Given the description of an element on the screen output the (x, y) to click on. 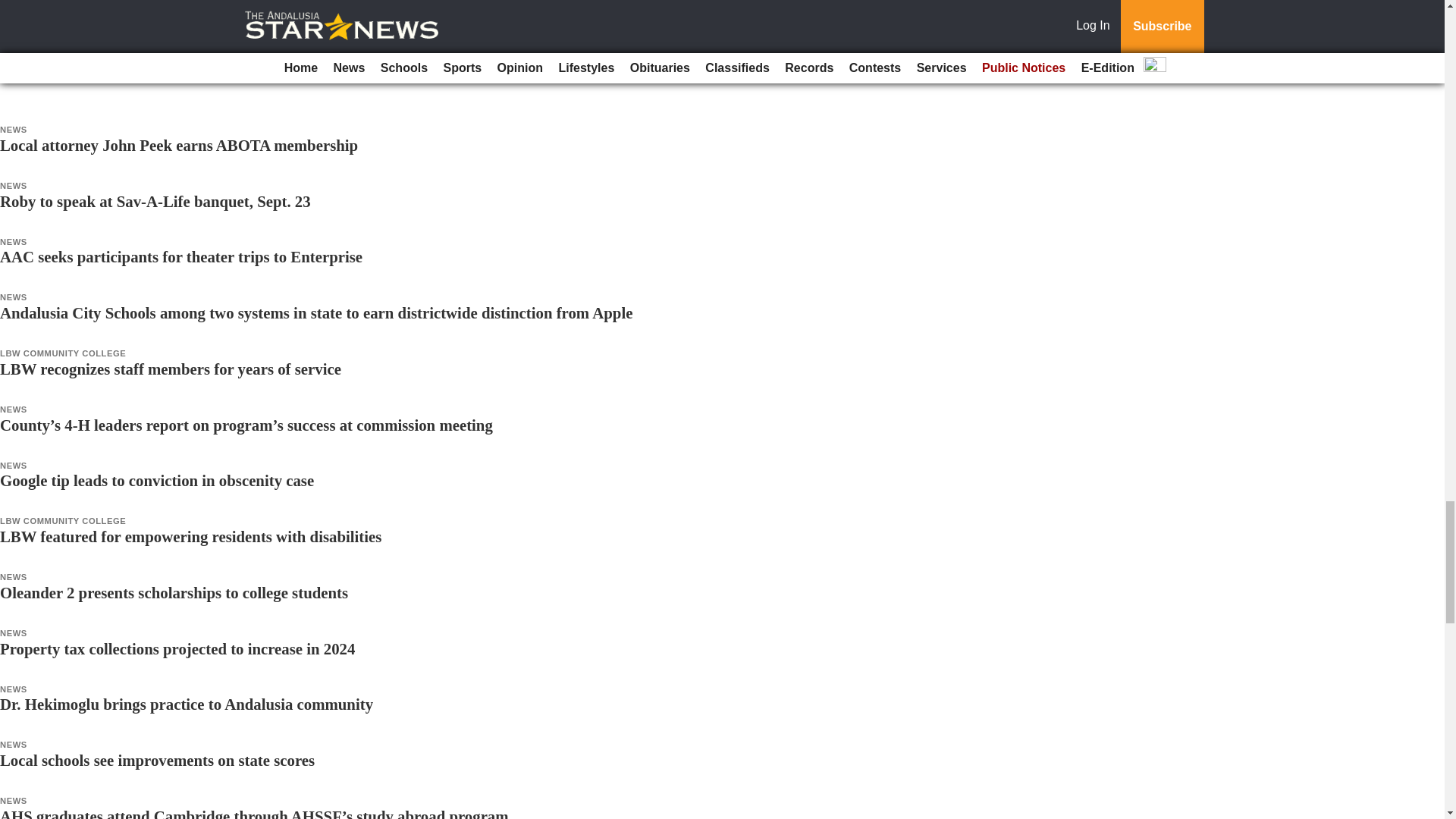
Roby to speak at Sav-A-Life banquet, Sept. 23 (155, 200)
Google tip leads to conviction in obscenity case (157, 479)
Roby to speak at Sav-A-Life banquet, Sept. 23 (155, 200)
Oleander 2 presents scholarships to college students (173, 592)
Local schools see improvements on state scores (157, 760)
LBW featured for empowering residents with disabilities (190, 536)
Dr. Hekimoglu brings practice to Andalusia community (186, 703)
Property tax collections projected to increase in 2024 (177, 648)
